Given the description of an element on the screen output the (x, y) to click on. 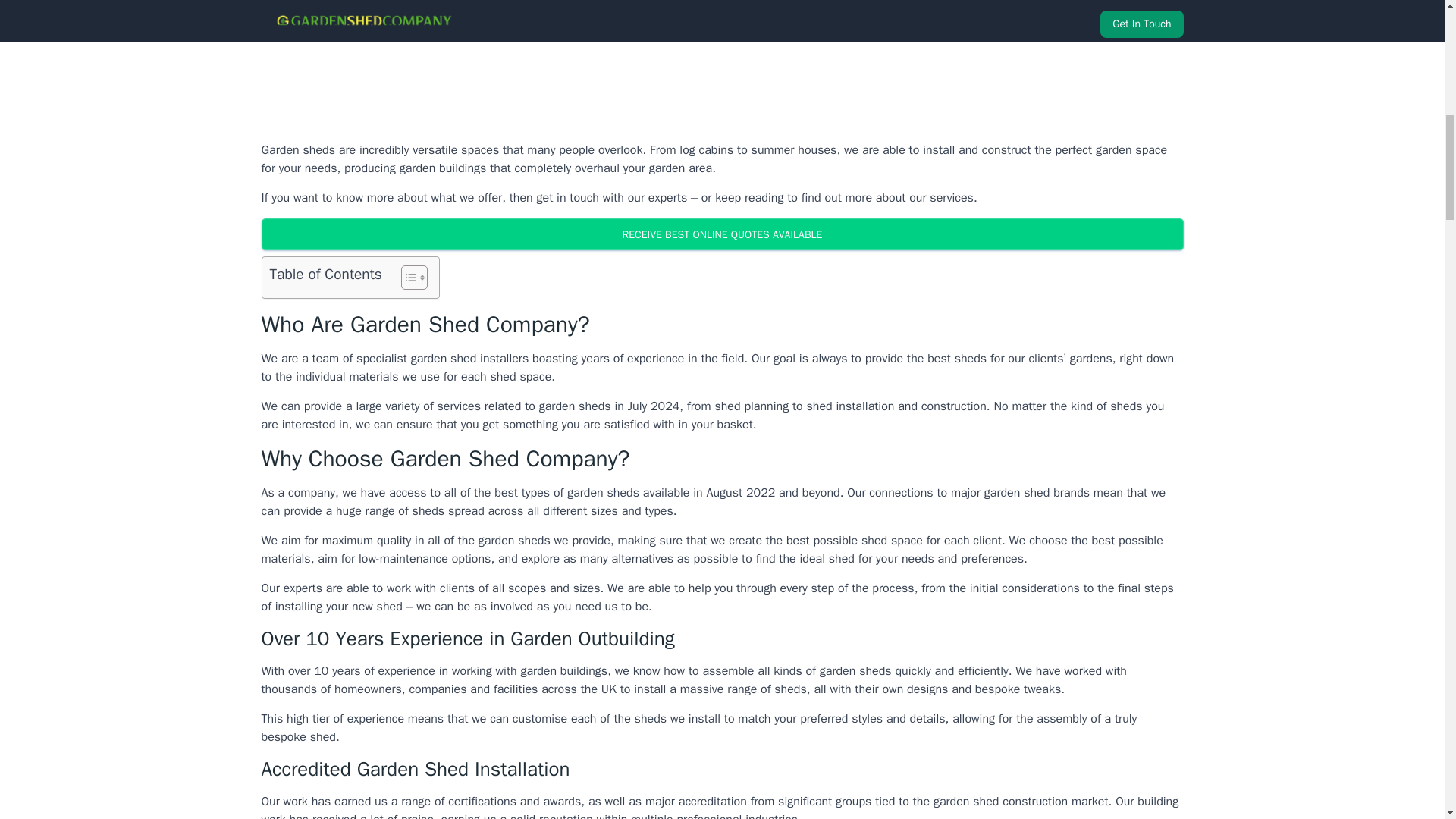
RECEIVE BEST ONLINE QUOTES AVAILABLE (721, 234)
